Given the description of an element on the screen output the (x, y) to click on. 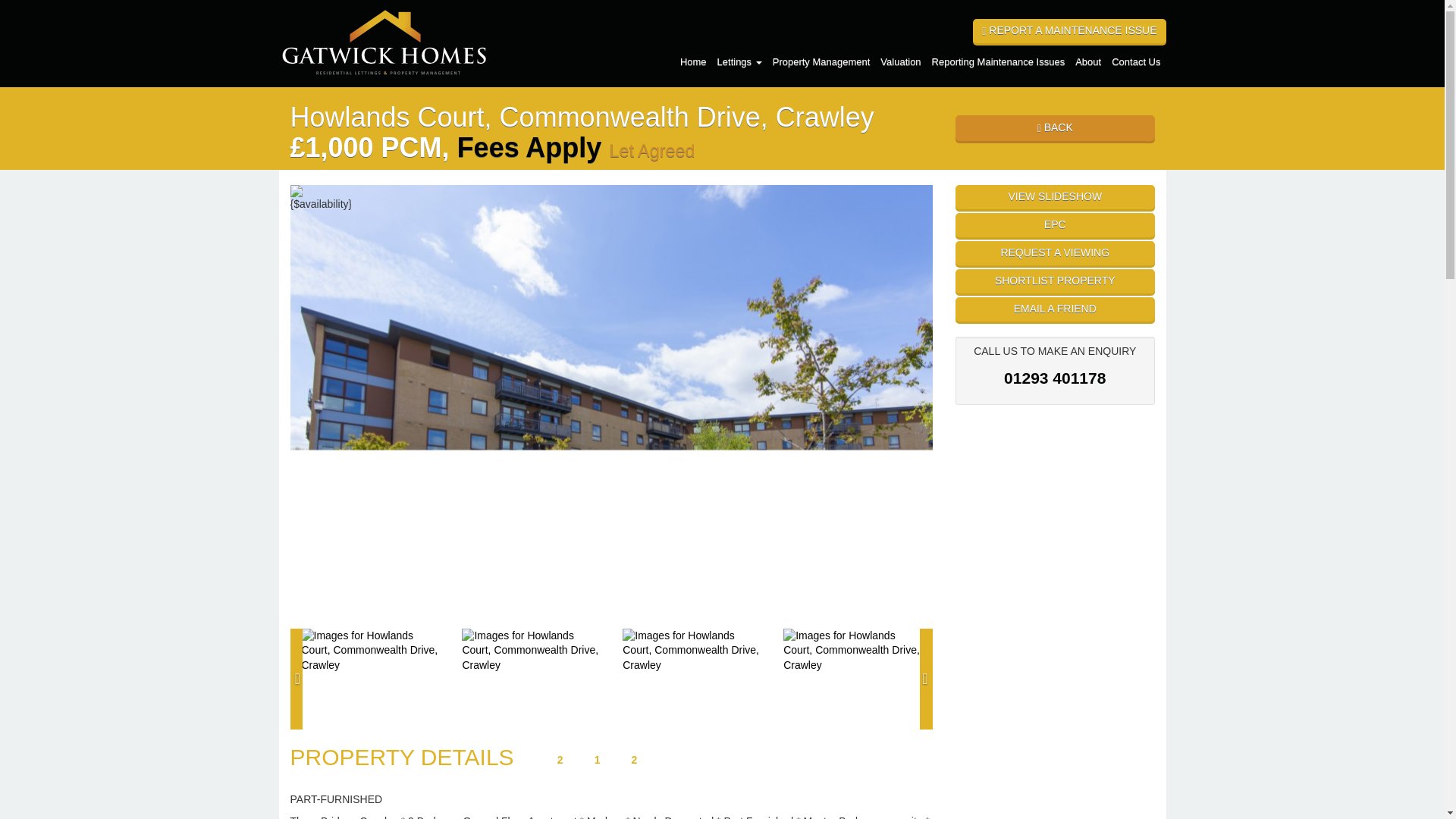
Fees Apply (529, 146)
REPORT A MAINTENANCE ISSUE (1069, 30)
About (1088, 61)
BACK (1054, 127)
Valuation (900, 61)
Home (693, 61)
Property Management (821, 61)
EPC (1054, 224)
Contact Us (1136, 61)
01293 401178 (1054, 377)
